Given the description of an element on the screen output the (x, y) to click on. 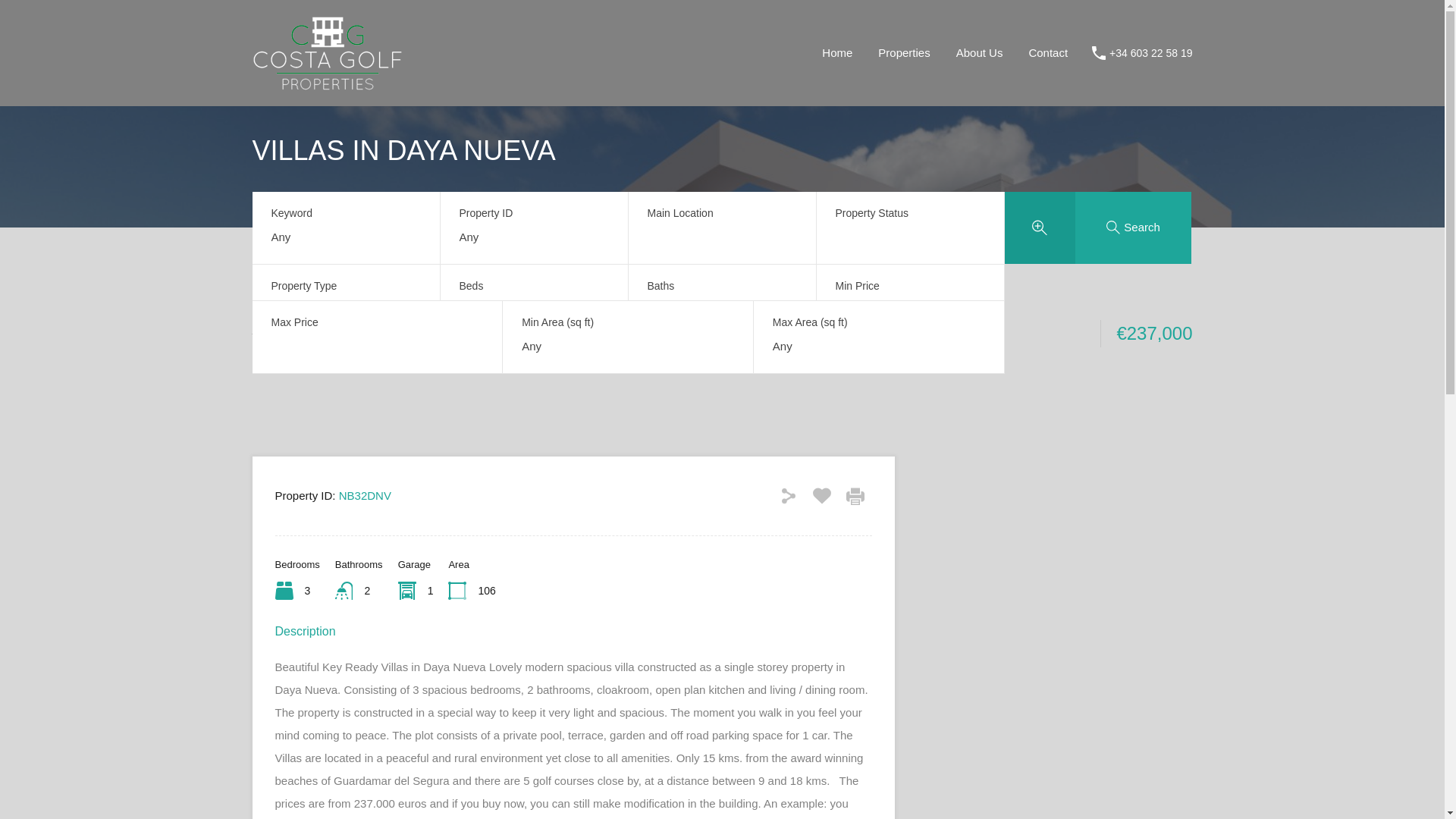
Search (1133, 226)
Only provide digits! (879, 346)
Daya Nueva (453, 315)
Home (836, 53)
Home (266, 315)
Costa Golf Properties (327, 83)
Properties (903, 53)
Only provide digits! (627, 346)
Contact (1047, 53)
About Us (979, 53)
Costa Blanca South (352, 315)
